Given the description of an element on the screen output the (x, y) to click on. 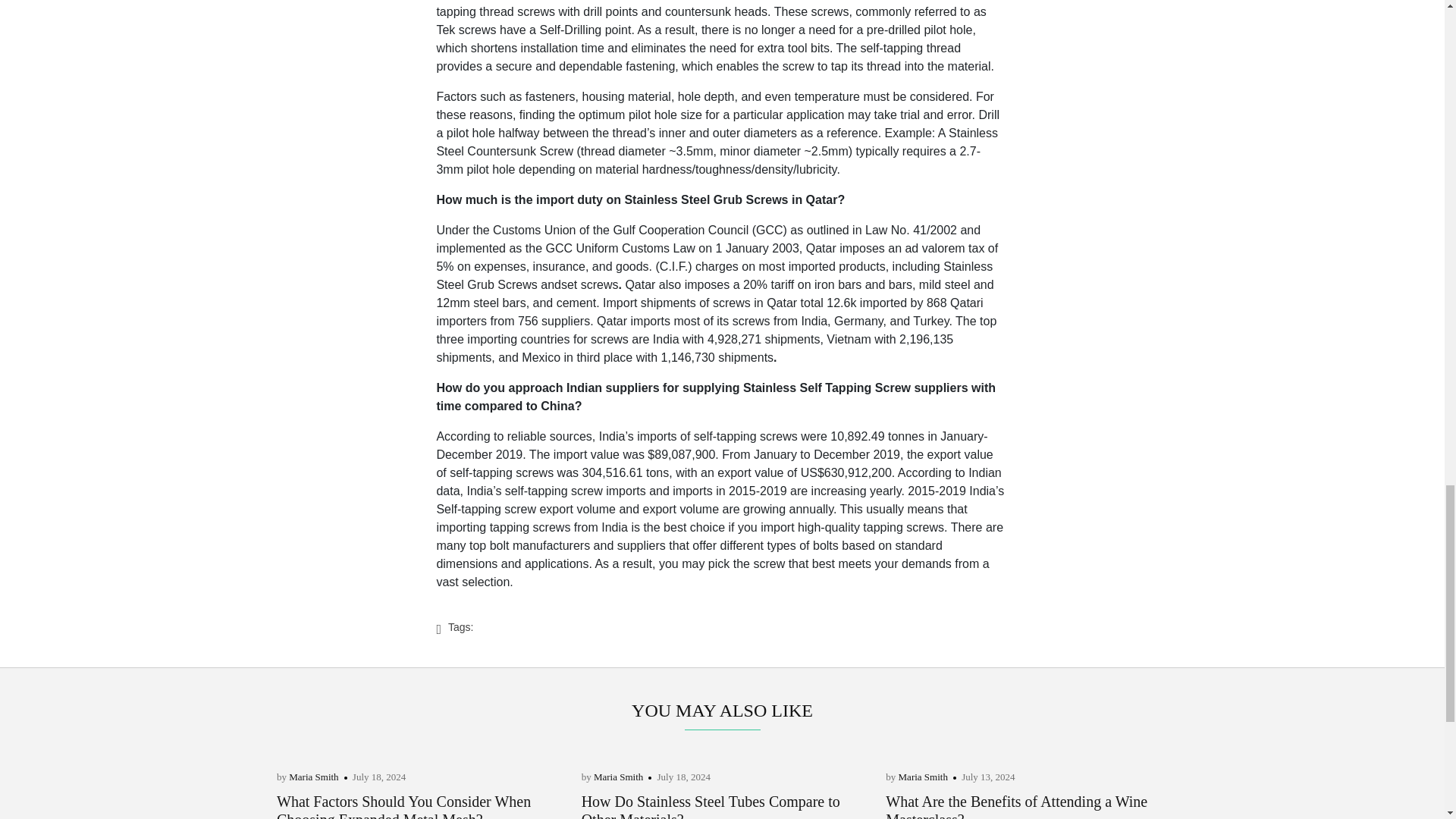
How Do Stainless Steel Tubes Compare to Other Materials? (710, 726)
READ MORE (611, 809)
What Are the Benefits of Attending a Wine Masterclass? (1016, 726)
How Do Stainless Steel Tubes Compare to Other Materials? (710, 726)
READ MORE (307, 809)
